Given the description of an element on the screen output the (x, y) to click on. 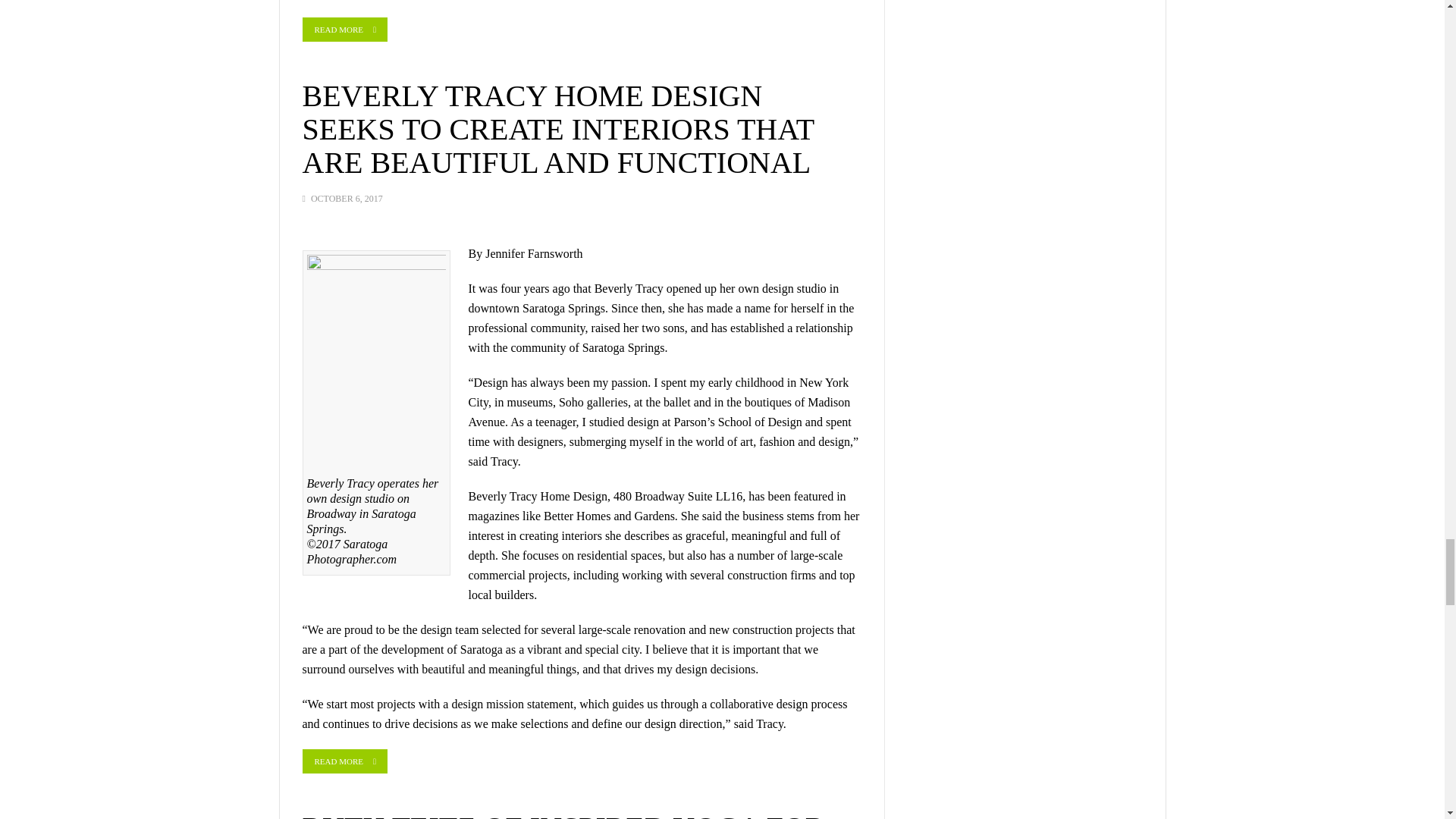
READ MORE (344, 29)
